Given the description of an element on the screen output the (x, y) to click on. 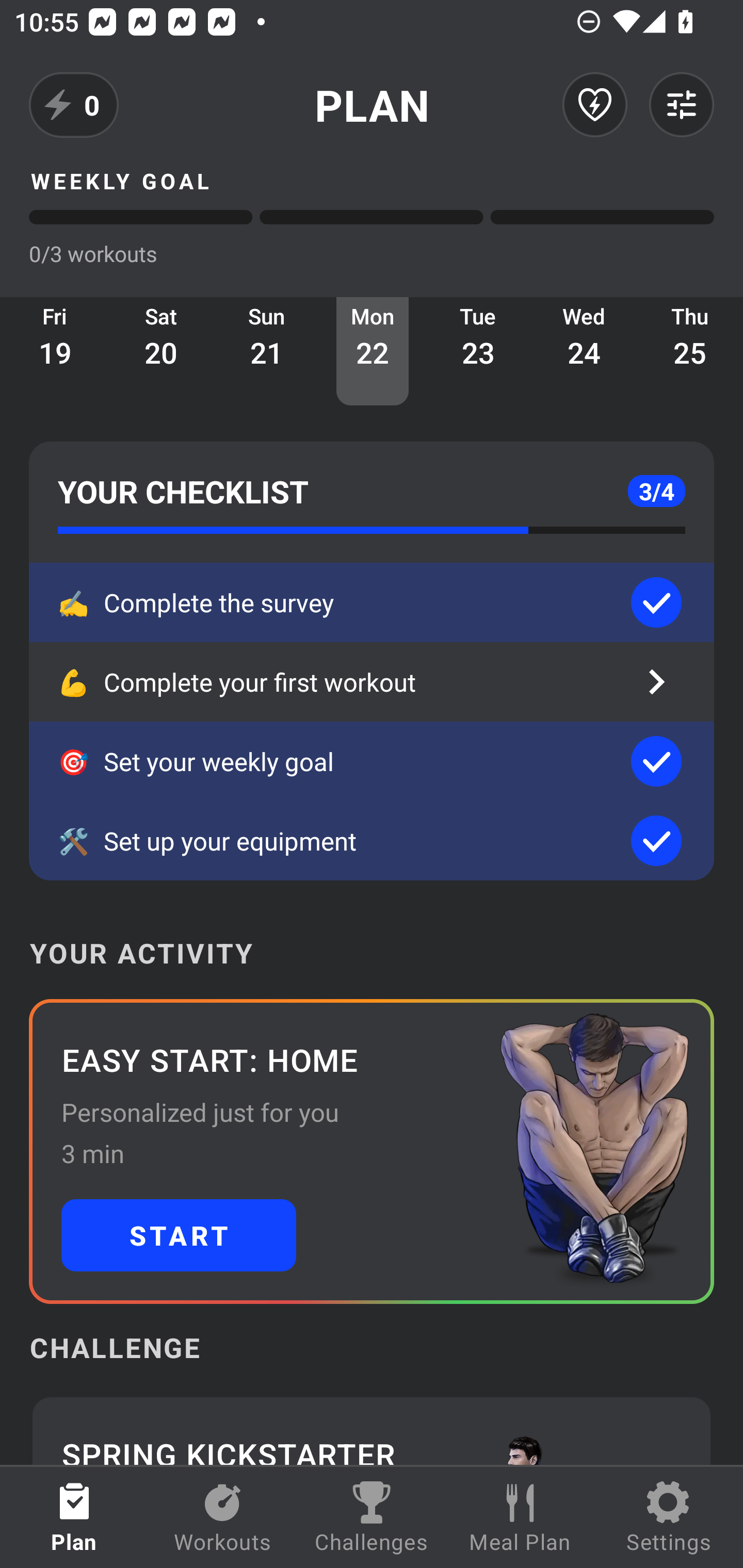
0 (73, 104)
Fri 19 (55, 351)
Sat 20 (160, 351)
Sun 21 (266, 351)
Mon 22 (372, 351)
Tue 23 (478, 351)
Wed 24 (584, 351)
Thu 25 (690, 351)
💪 Complete your first workout (371, 681)
START (178, 1235)
 Workouts  (222, 1517)
 Challenges  (371, 1517)
 Meal Plan  (519, 1517)
 Settings  (668, 1517)
